Given the description of an element on the screen output the (x, y) to click on. 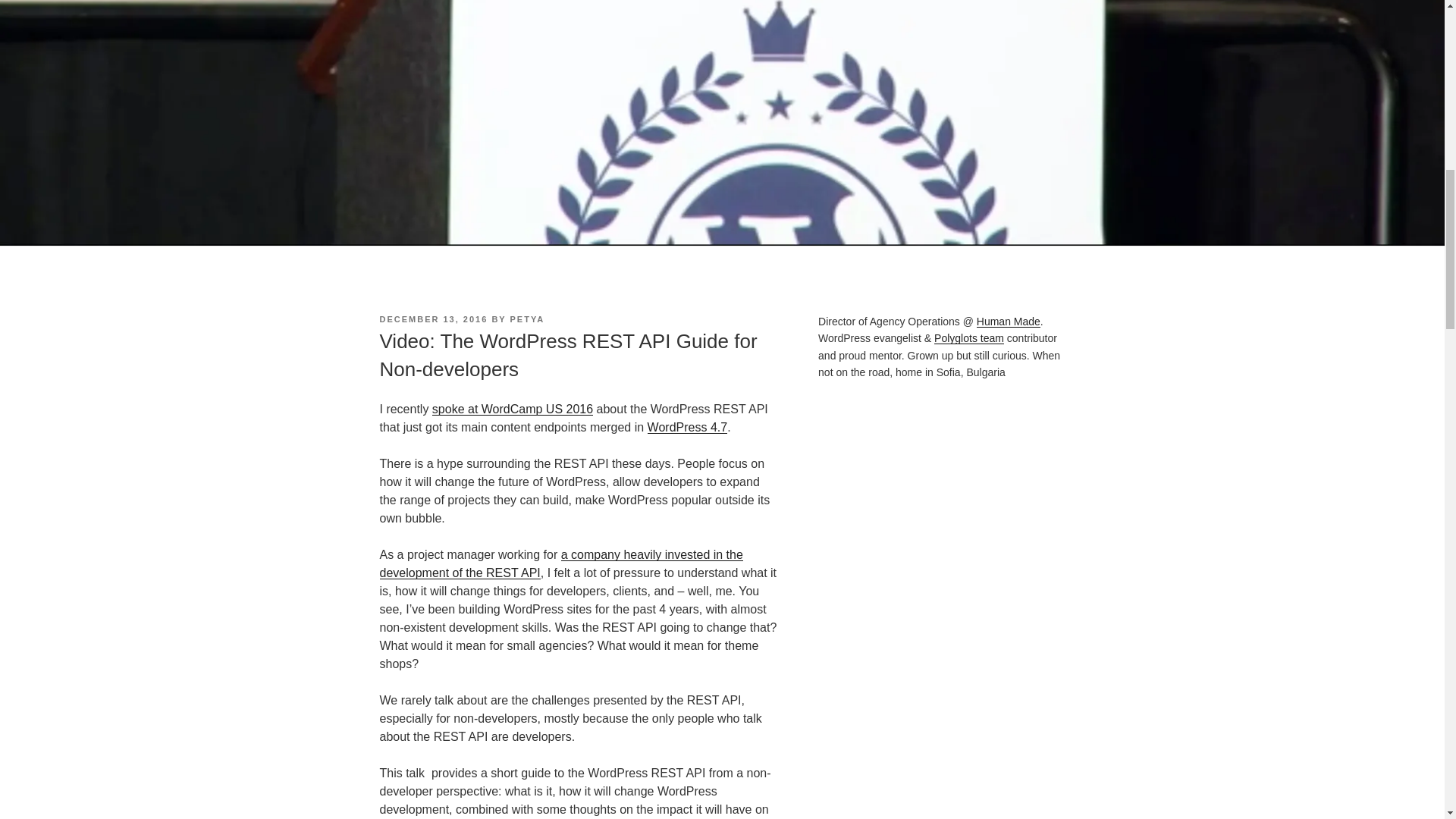
spoke at WordCamp US 2016 (512, 408)
WordPress 4.7 (687, 427)
DECEMBER 13, 2016 (432, 318)
PETYA (527, 318)
